Given the description of an element on the screen output the (x, y) to click on. 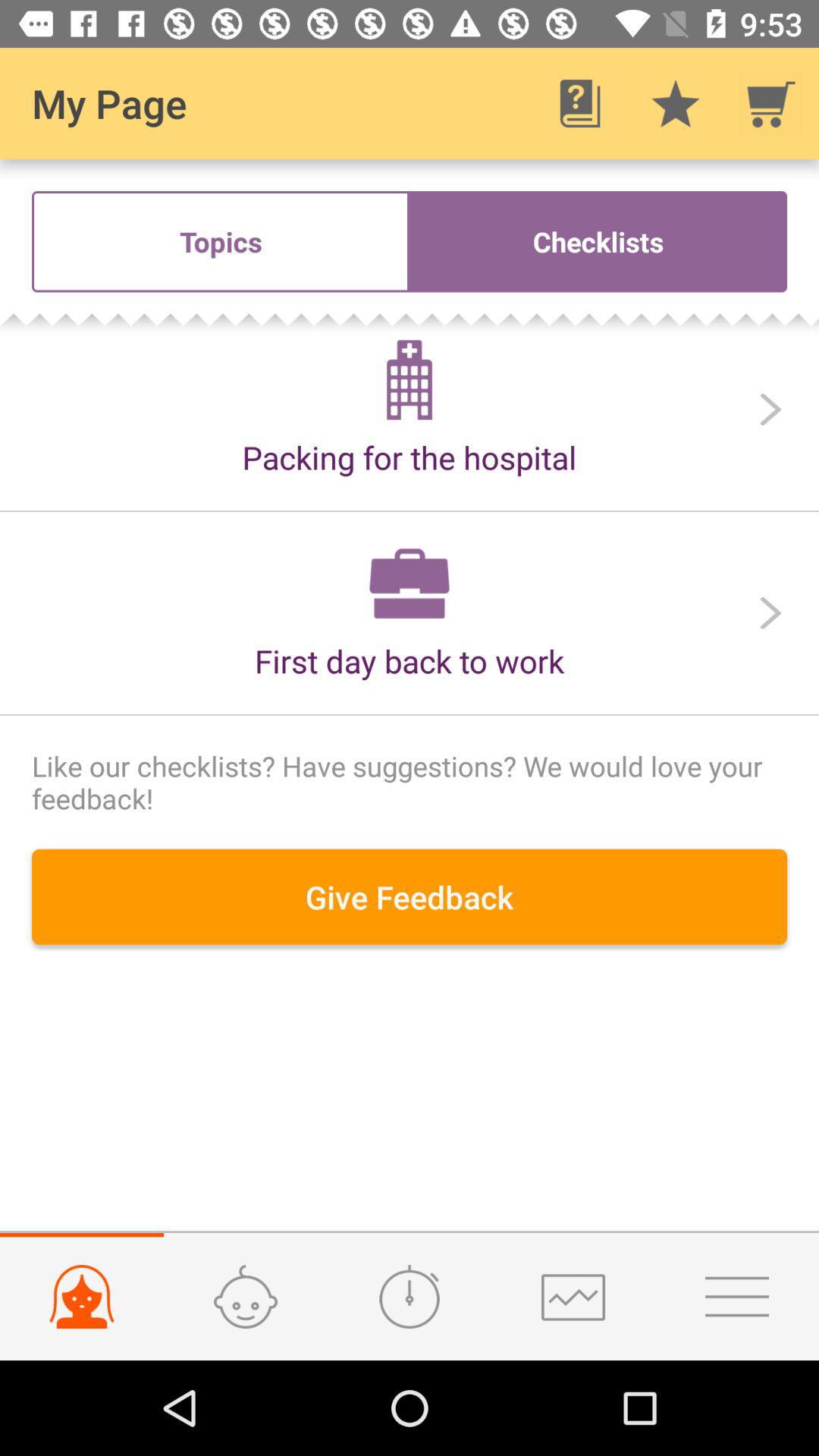
turn off item above checklists icon (771, 103)
